Given the description of an element on the screen output the (x, y) to click on. 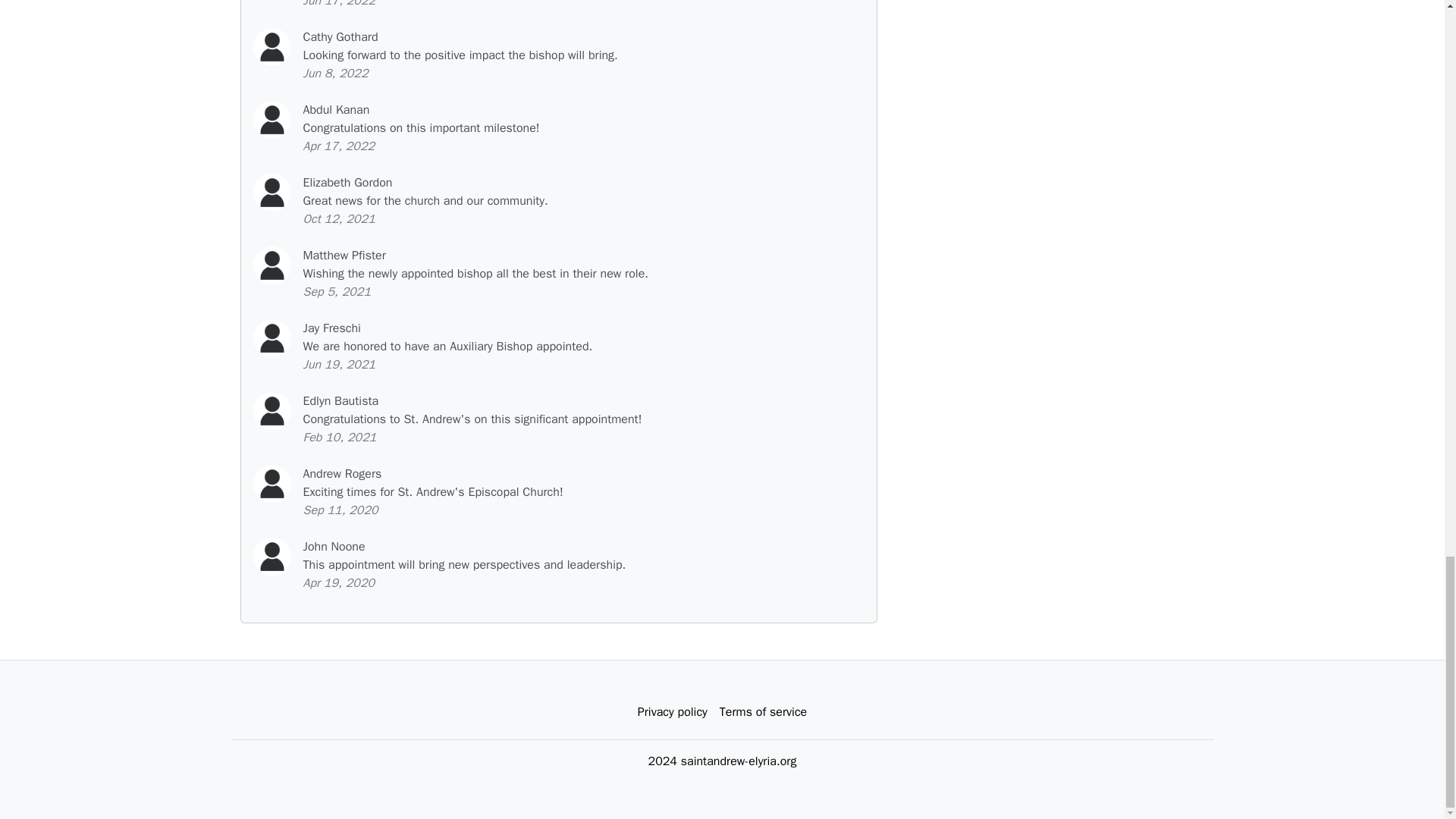
Terms of service (762, 711)
Privacy policy (672, 711)
